Given the description of an element on the screen output the (x, y) to click on. 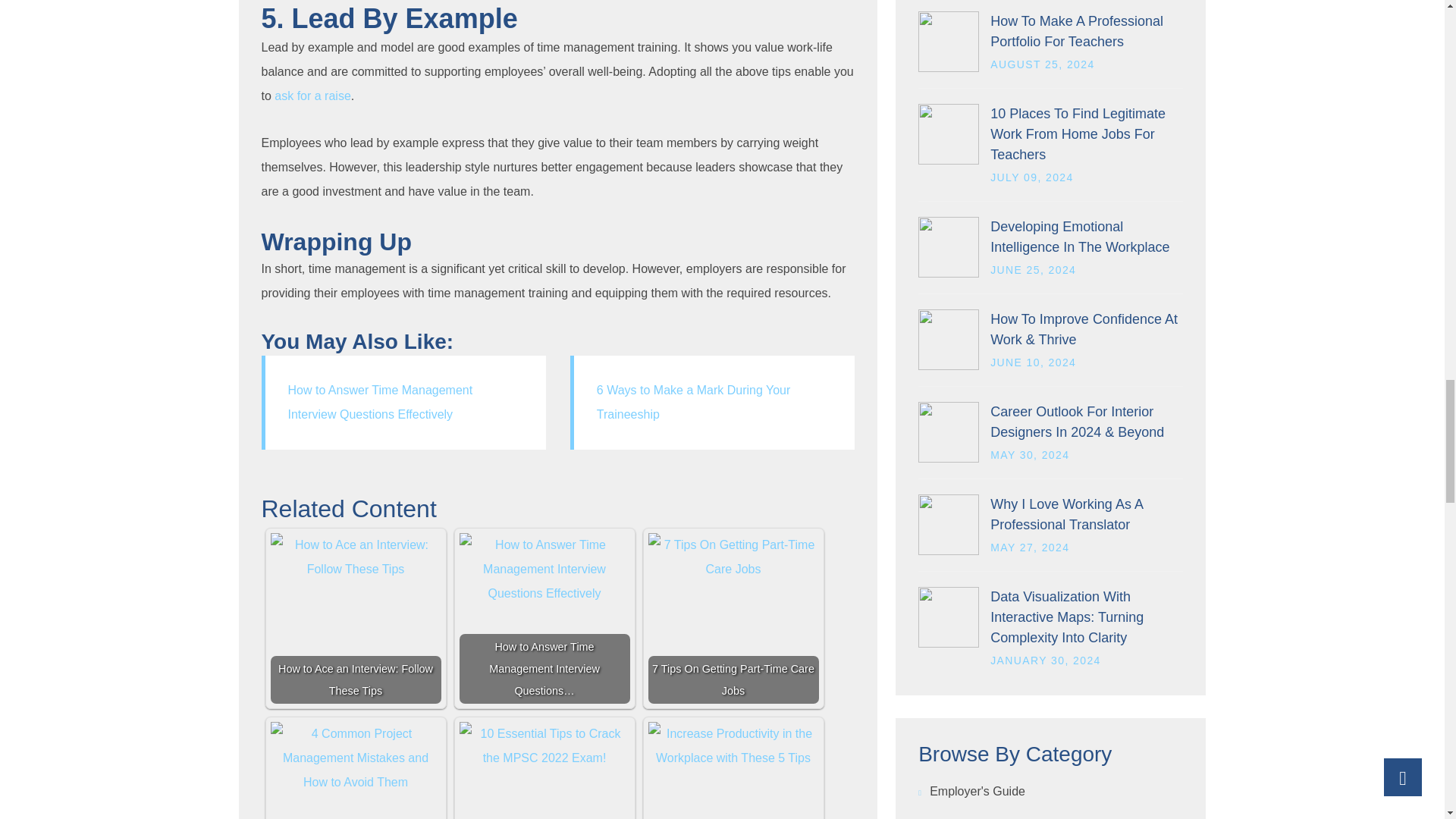
10 Essential Tips to Crack the MPSC 2022 Exam! (545, 745)
ask for a raise (312, 95)
7 Tips On Getting Part-Time Care Jobs (732, 557)
How to Ace an Interview: Follow These Tips (355, 557)
Increase Productivity in the Workplace with These 5 Tips (732, 745)
6 Ways to Make a Mark During Your Traineeship (693, 402)
4 Common Project Management Mistakes and How to Avoid Them (355, 757)
